Given the description of an element on the screen output the (x, y) to click on. 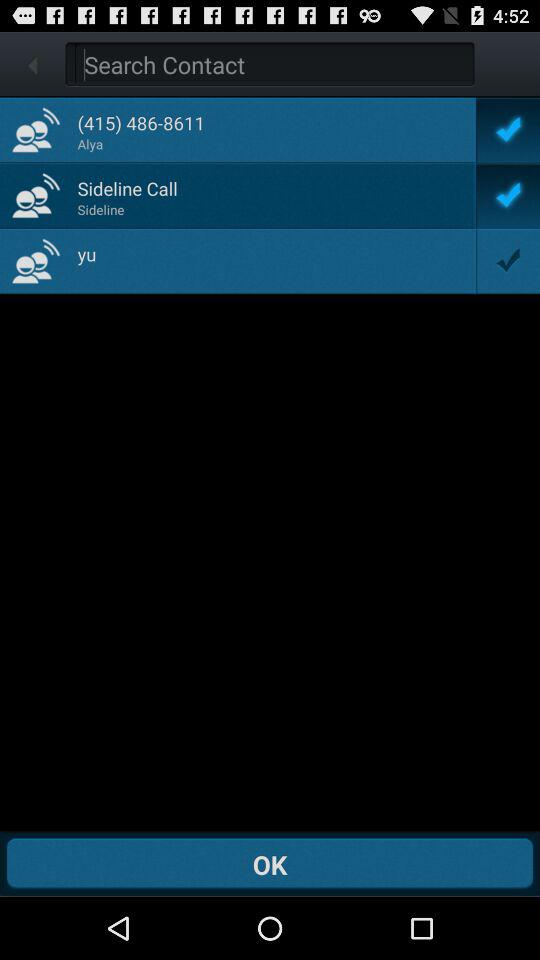
go back (32, 64)
